Given the description of an element on the screen output the (x, y) to click on. 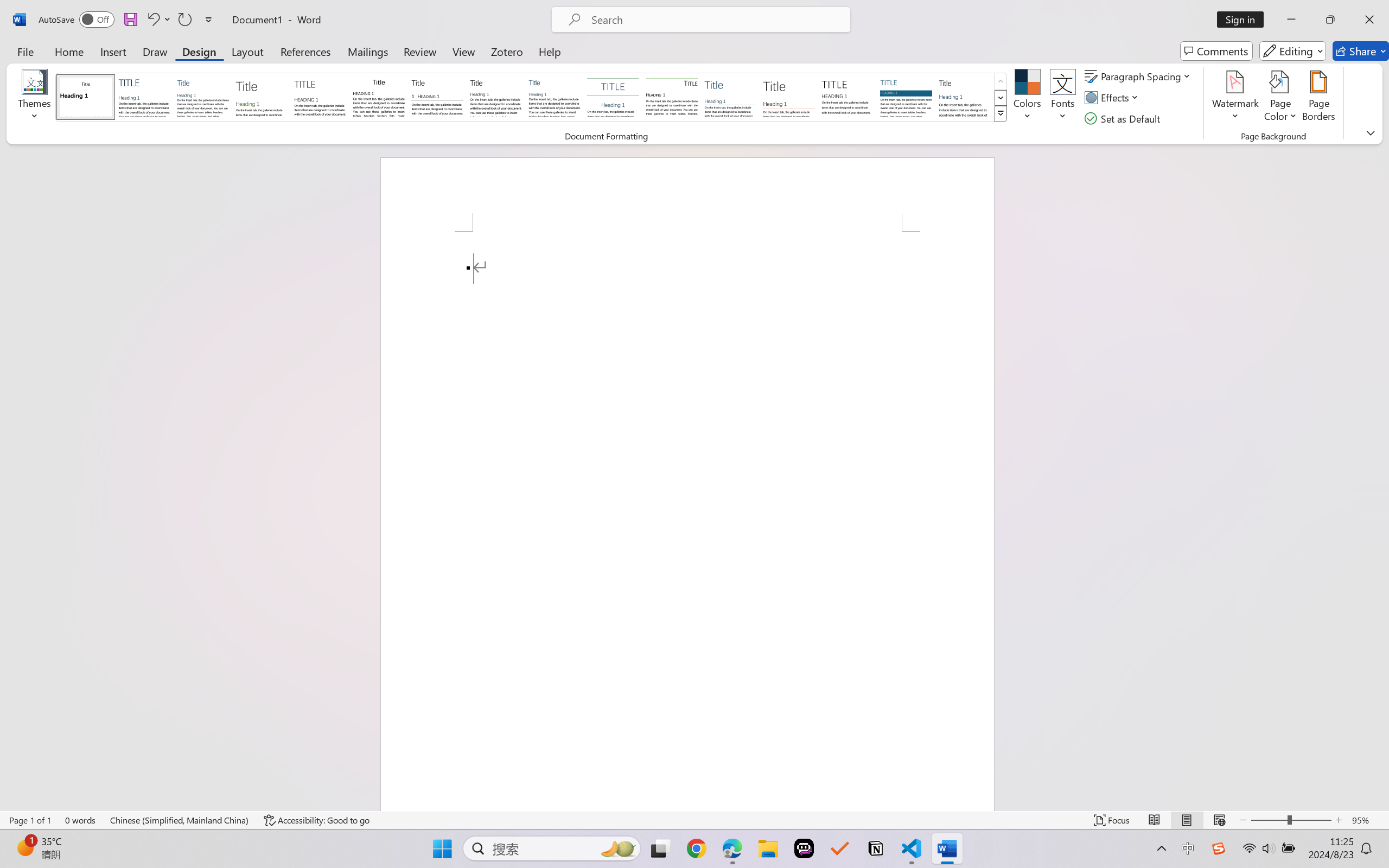
Editing (1292, 50)
Paragraph Spacing (1139, 75)
Shaded (905, 96)
Undo Apply Quick Style (152, 19)
Watermark (1235, 97)
Lines (Distinctive) (671, 96)
Effects (1113, 97)
Style Set (1000, 113)
Word (964, 96)
